Given the description of an element on the screen output the (x, y) to click on. 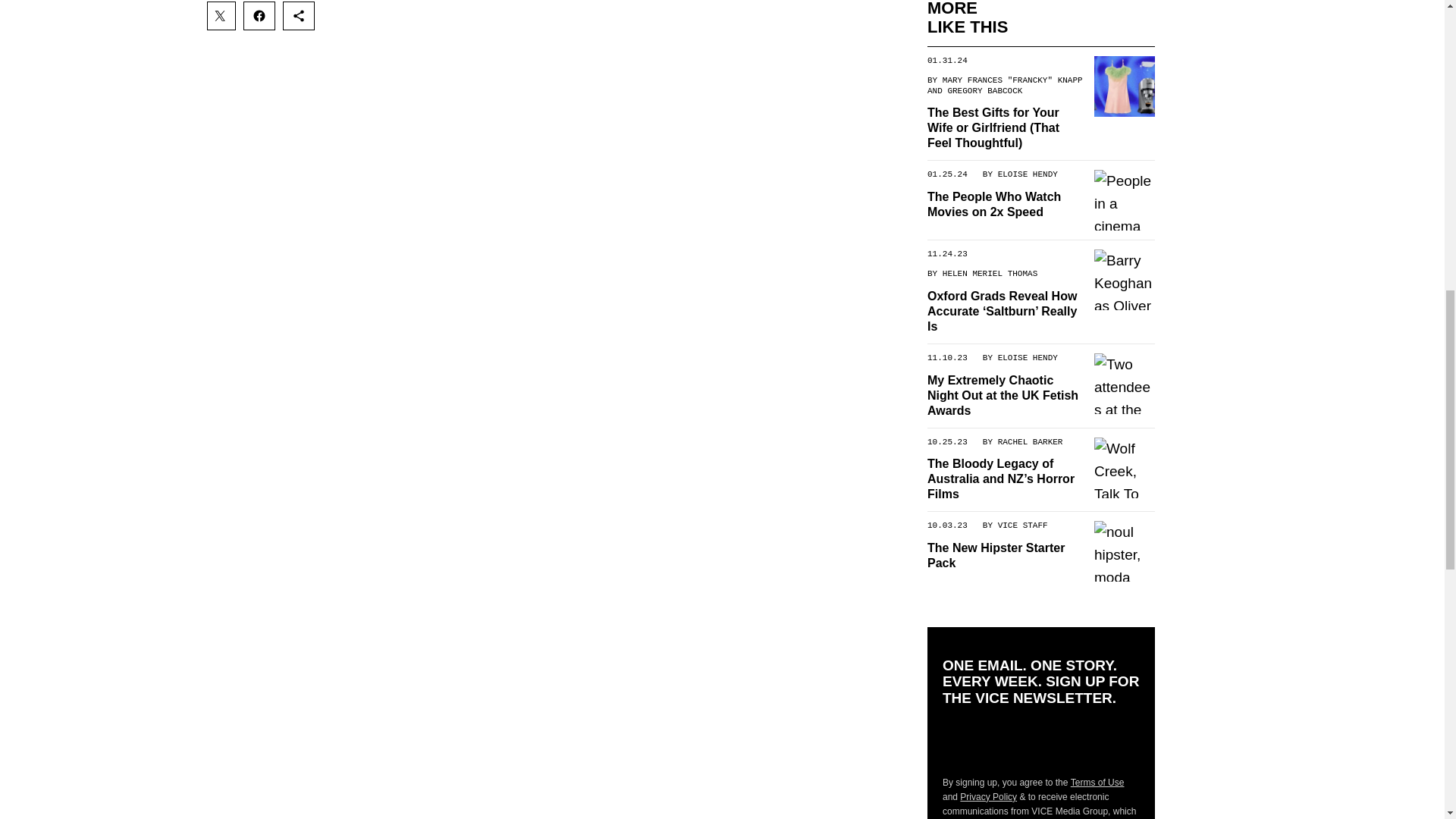
Newsletter Signup Form (1040, 740)
Posts by Rachel Barker (1029, 440)
Posts by Helen Meriel Thomas (989, 272)
Posts by Mary Frances "Francky" Knapp (1011, 79)
Posts by Gregory Babcock (984, 90)
Posts by Eloise Hendy (1027, 356)
Posts by Eloise Hendy (1027, 174)
Posts by VICE Staff (1021, 524)
